Given the description of an element on the screen output the (x, y) to click on. 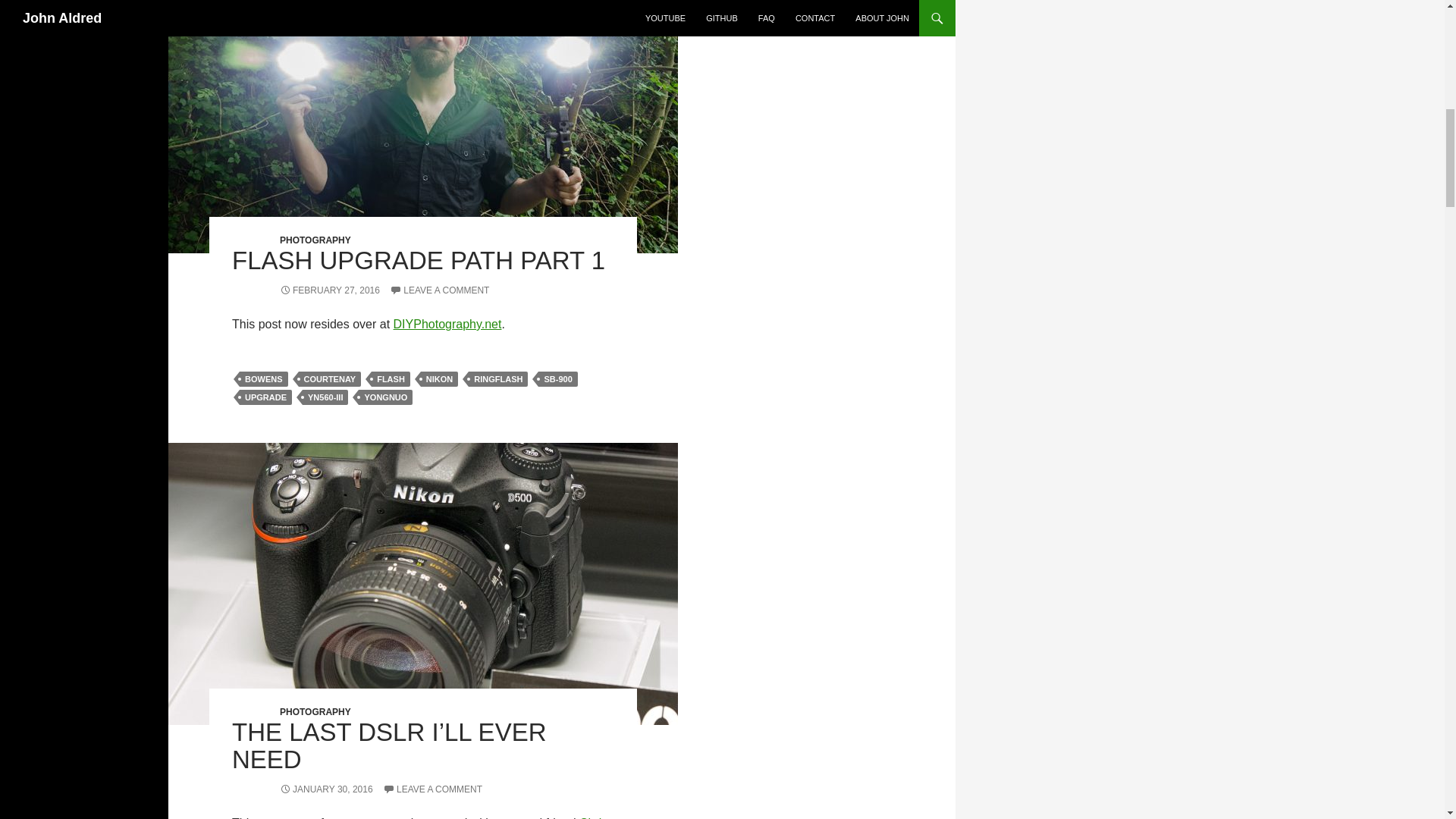
FLASH (390, 378)
RINGFLASH (497, 378)
BOWENS (264, 378)
PHOTOGRAPHY (314, 240)
FEBRUARY 27, 2016 (329, 290)
NIKON (439, 378)
LEAVE A COMMENT (439, 290)
COURTENAY (329, 378)
FLASH UPGRADE PATH PART 1 (418, 260)
DIYPhotography.net (447, 323)
